Given the description of an element on the screen output the (x, y) to click on. 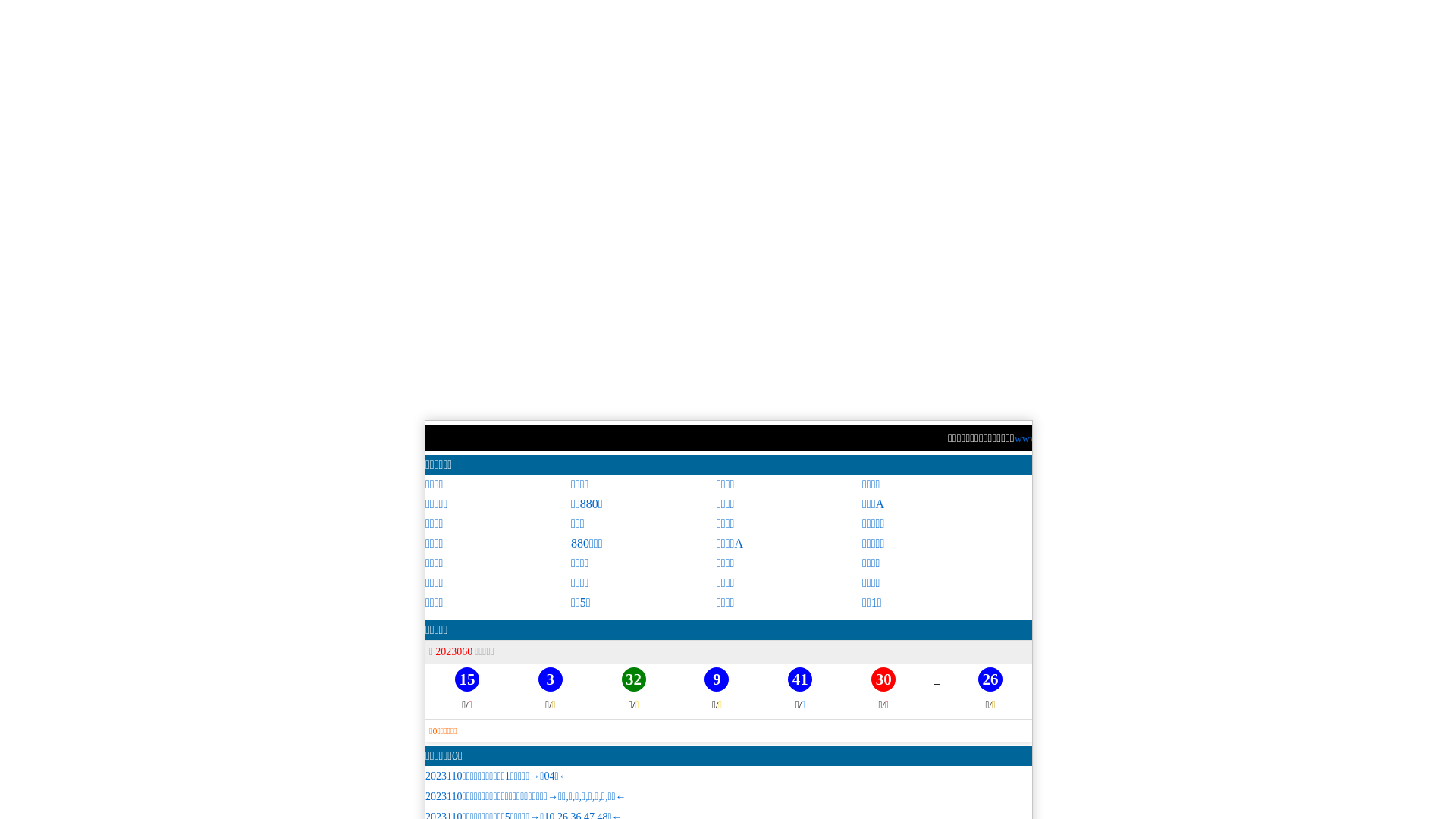
www.easthv.cc Element type: text (846, 438)
easthv.cc Element type: text (904, 438)
